Given the description of an element on the screen output the (x, y) to click on. 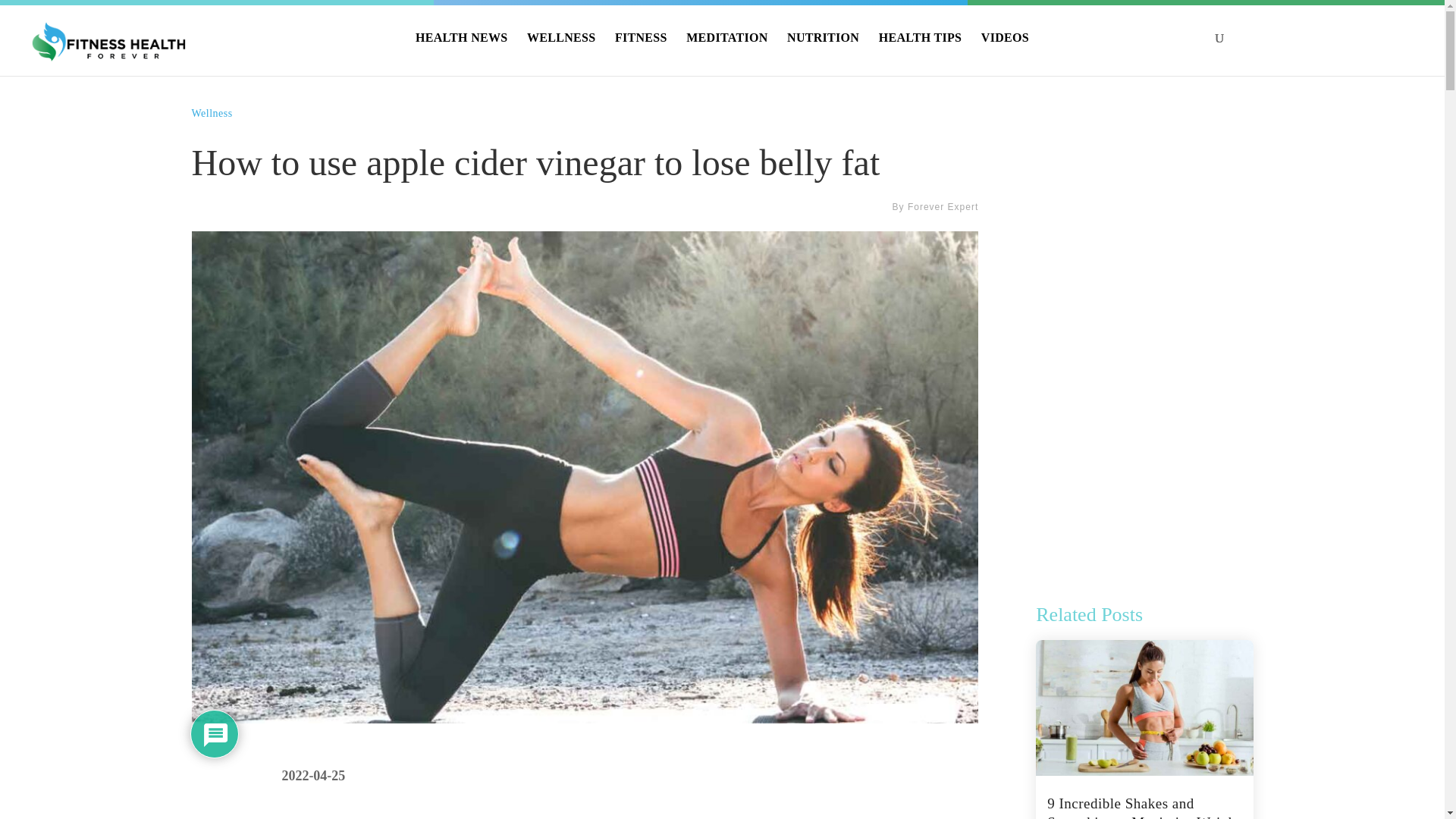
WELLNESS (561, 49)
Wellness (210, 112)
FITNESS (640, 49)
MEDITATION (726, 49)
VIDEOS (1005, 49)
HEALTH TIPS (920, 49)
NUTRITION (823, 49)
HEALTH NEWS (460, 49)
